Given the description of an element on the screen output the (x, y) to click on. 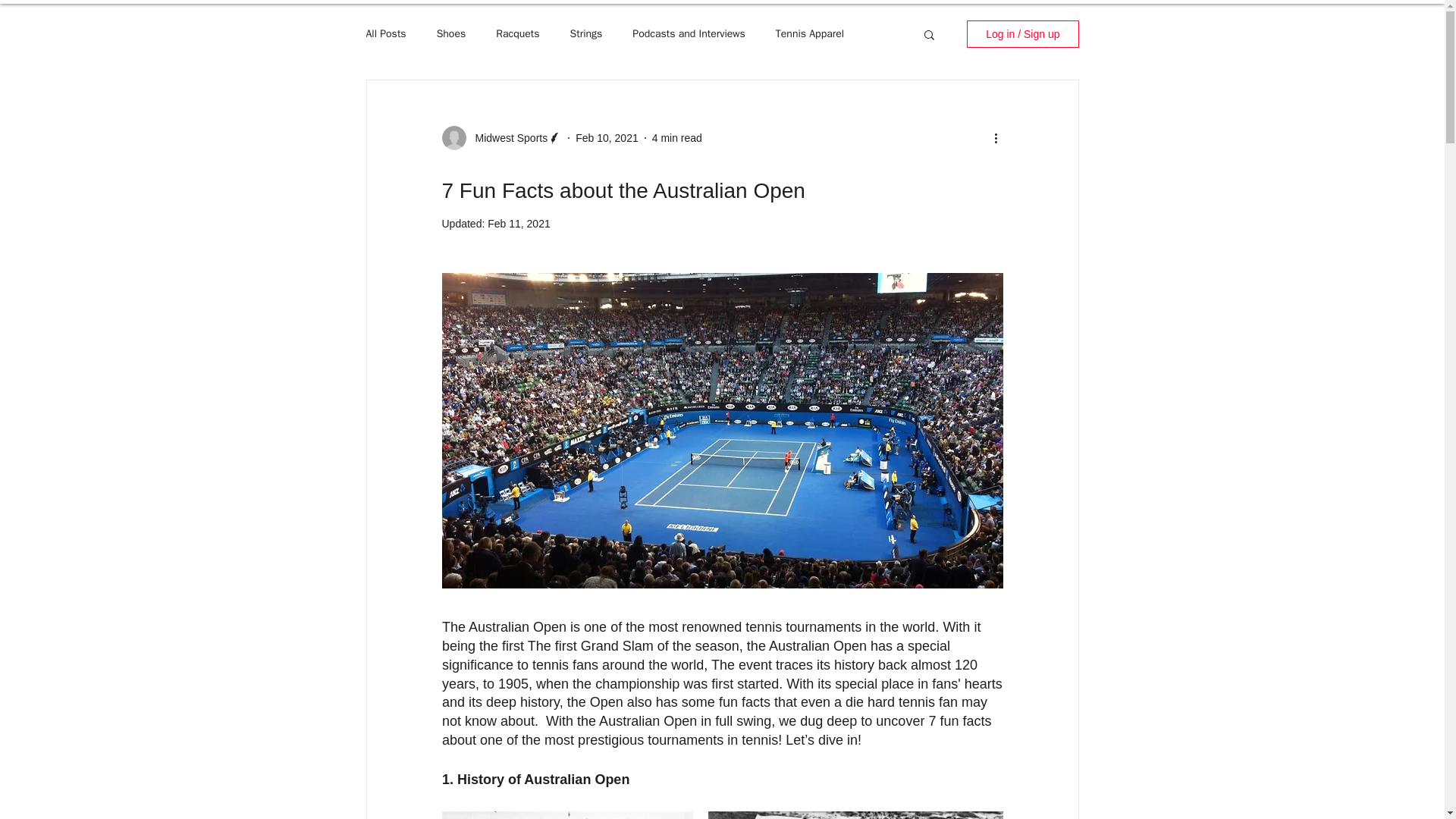
Midwest Sports (506, 138)
All Posts (385, 33)
Feb 11, 2021 (518, 223)
Racquets (517, 33)
Tennis Apparel (810, 33)
Shoes (450, 33)
4 min read (676, 137)
Podcasts and Interviews (687, 33)
Feb 10, 2021 (607, 137)
Strings (586, 33)
